Given the description of an element on the screen output the (x, y) to click on. 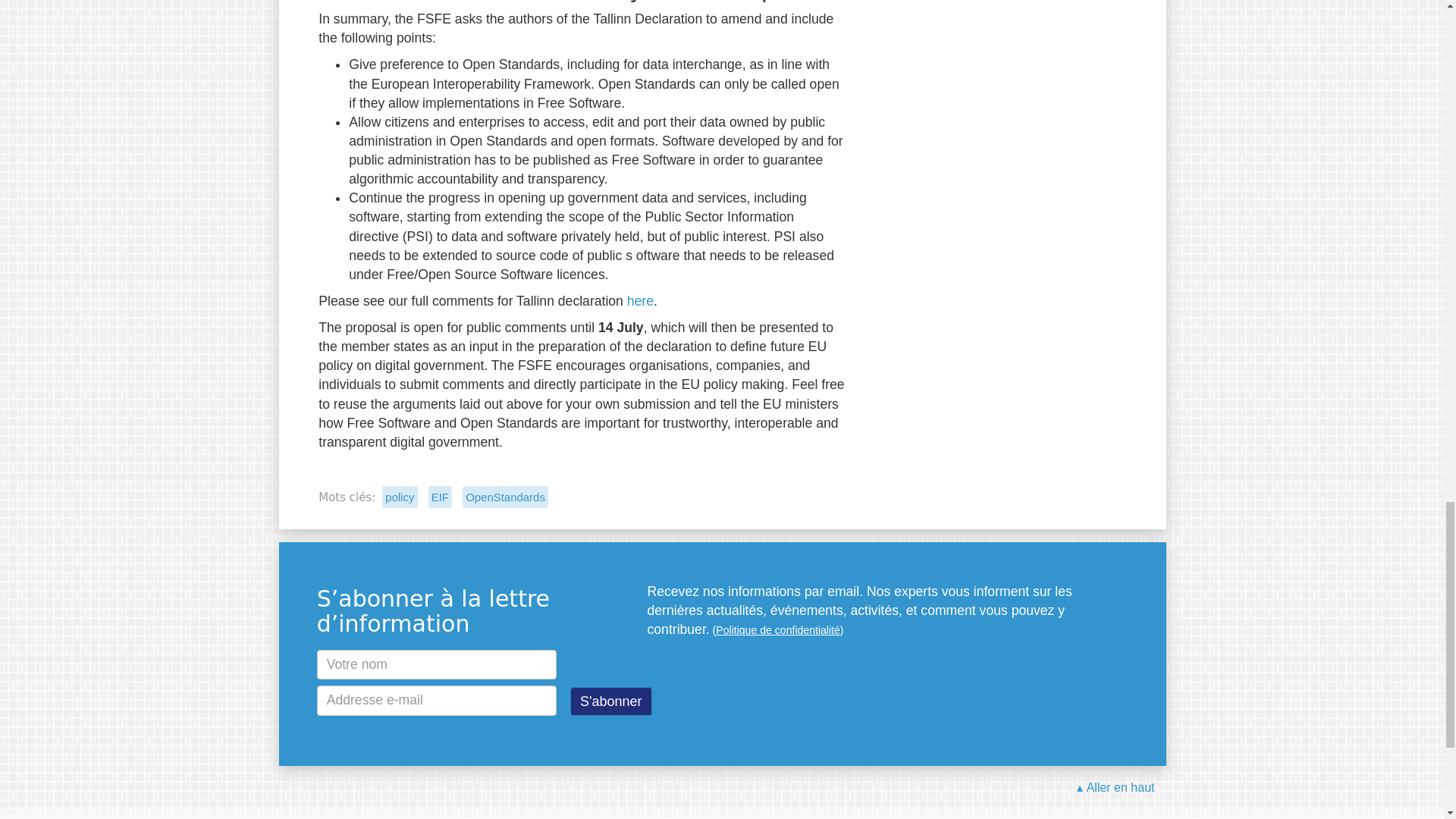
Aller en haut (1115, 787)
S'abonner (611, 701)
S'abonner (611, 701)
policy (398, 496)
here (640, 300)
EIF (439, 496)
OpenStandards (505, 496)
